Given the description of an element on the screen output the (x, y) to click on. 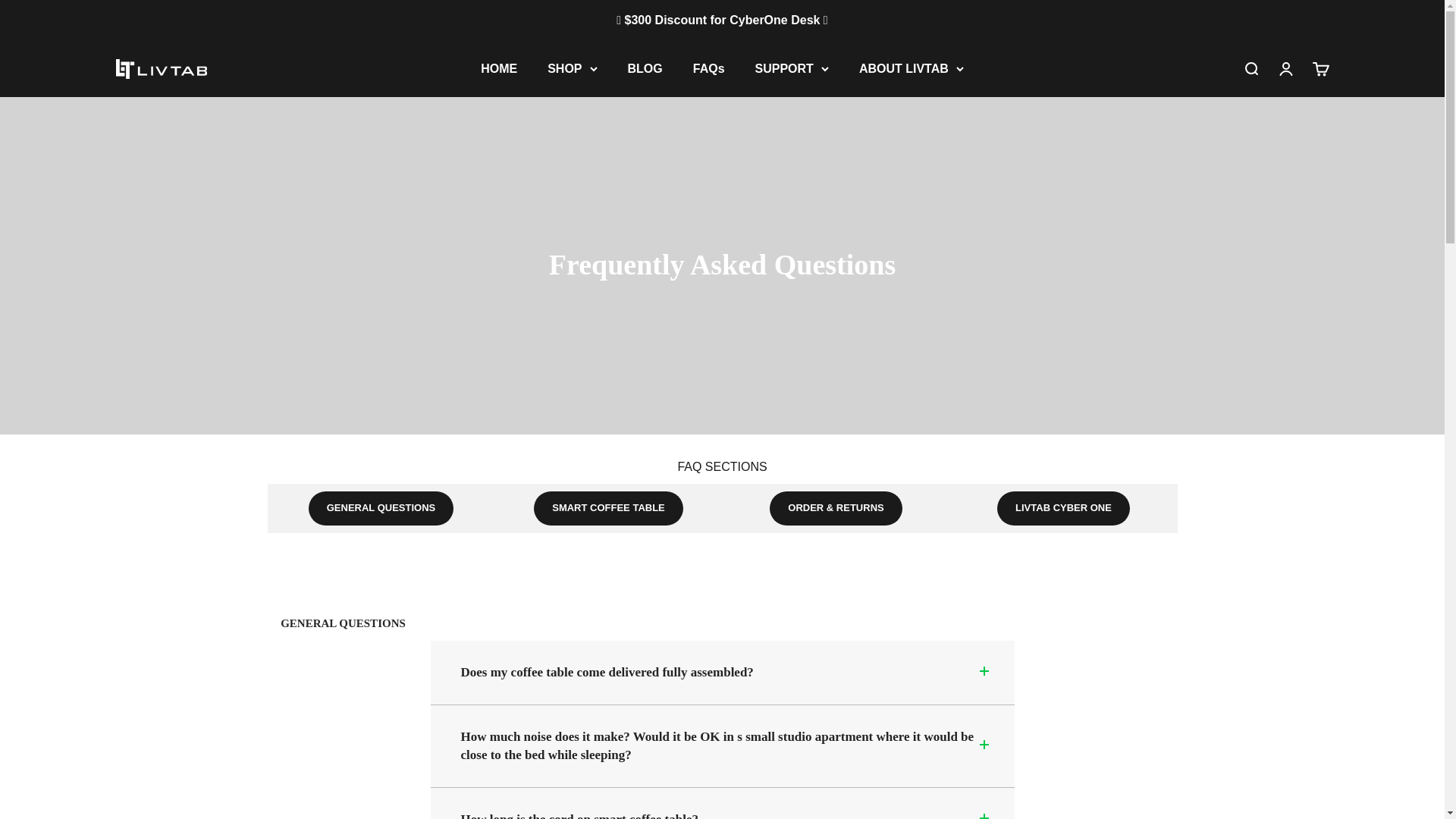
Open search (1319, 68)
Livtab (1250, 68)
FAQs (160, 68)
BLOG (709, 68)
Open account page (644, 68)
HOME (1285, 68)
